Given the description of an element on the screen output the (x, y) to click on. 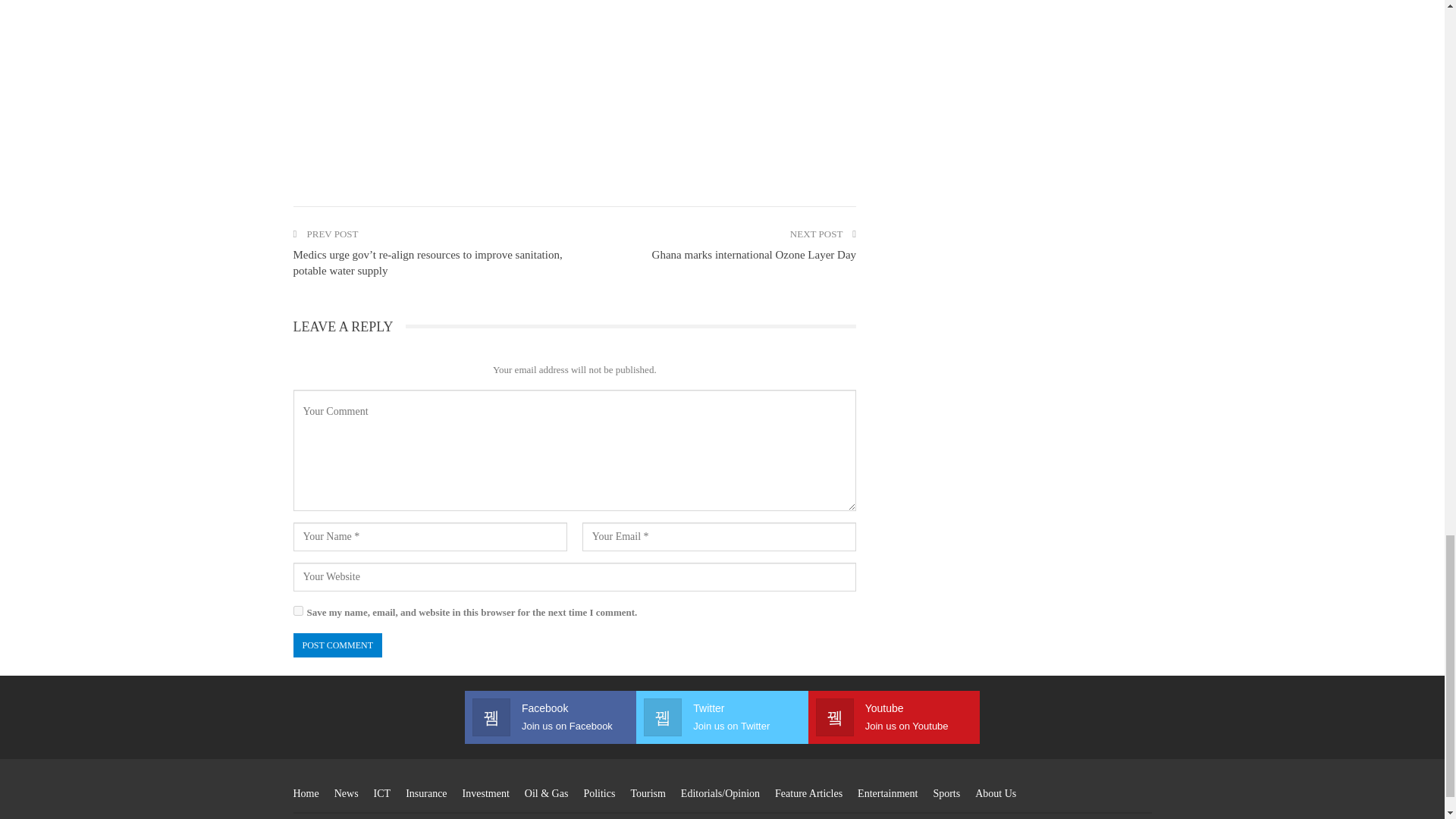
Post Comment (336, 644)
Post Comment (336, 644)
yes (297, 610)
Ghana marks international Ozone Layer Day (754, 254)
